Given the description of an element on the screen output the (x, y) to click on. 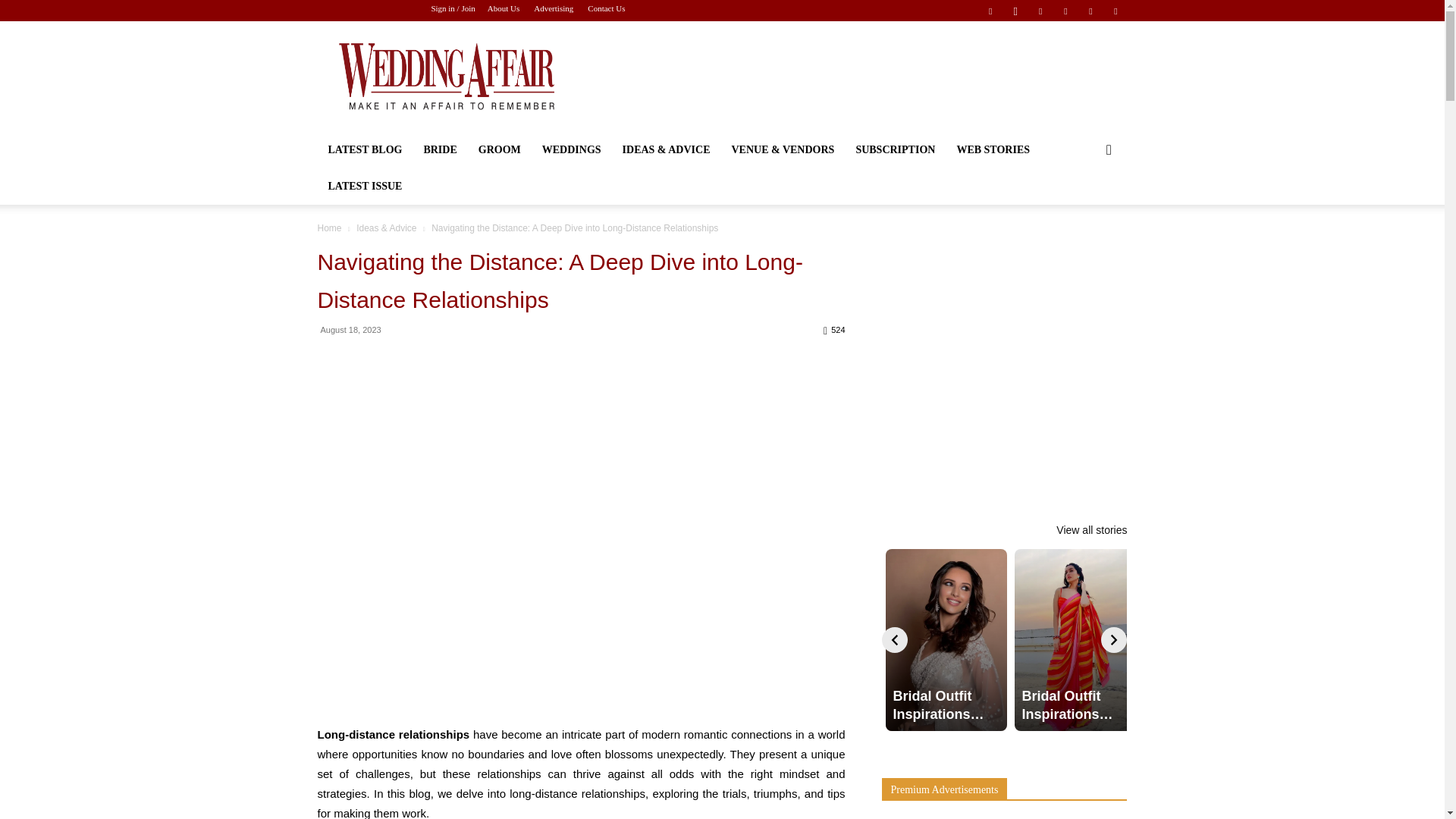
Twitter (1090, 11)
Instagram (1015, 11)
Mail (1065, 11)
Wedding Affair Magazine  (445, 76)
Youtube (1114, 11)
Facebook (989, 11)
Linkedin (1040, 11)
